Given the description of an element on the screen output the (x, y) to click on. 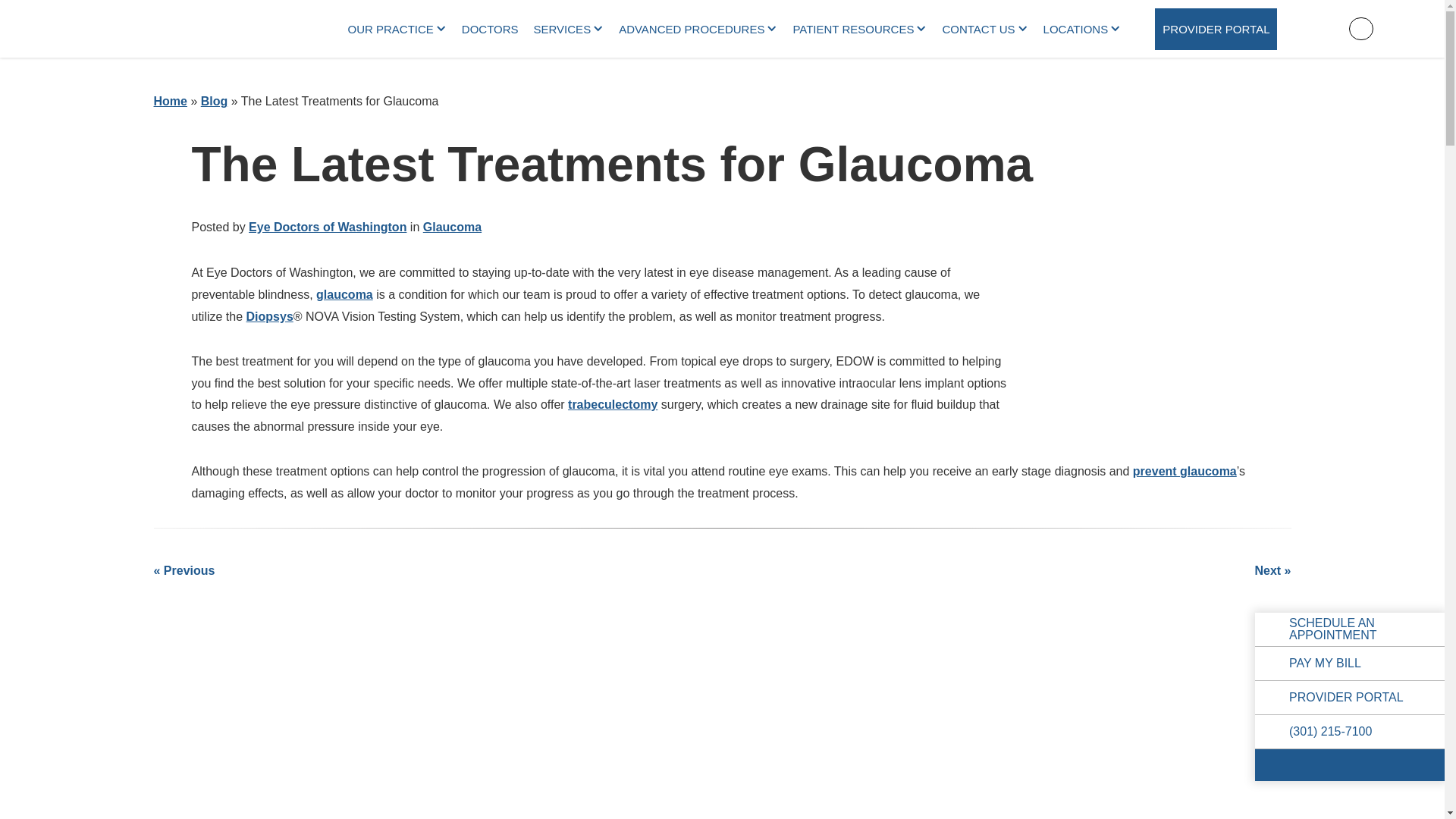
Cataract self-test (361, 756)
Search (1361, 28)
Search (1361, 28)
DOCTORS (489, 28)
ADVANCED PROCEDURES (697, 28)
OUR PRACTICE (395, 28)
SERVICES (568, 28)
Go to homepage (169, 28)
PATIENT RESOURCES (859, 28)
Open search form (1361, 28)
